Given the description of an element on the screen output the (x, y) to click on. 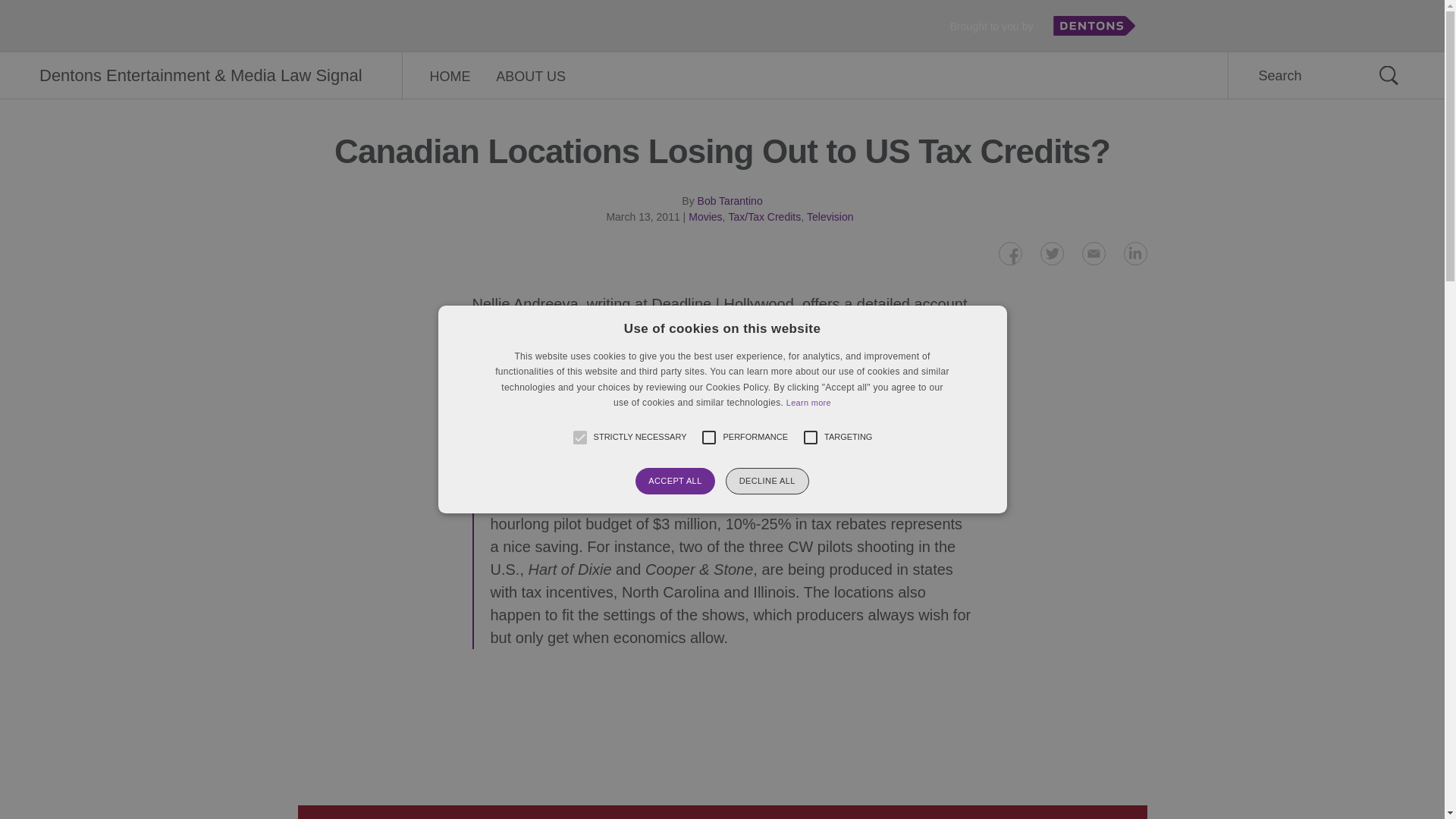
Share on Facebook (1009, 253)
Search (1387, 75)
ABOUT US (531, 76)
Search (1387, 75)
Bob Tarantino (729, 200)
Share on Twitter (1052, 253)
Movies (705, 216)
Search (1387, 75)
Share via email (1093, 253)
Share on LinkedIn (1135, 253)
HOME (449, 76)
Television (829, 216)
